Given the description of an element on the screen output the (x, y) to click on. 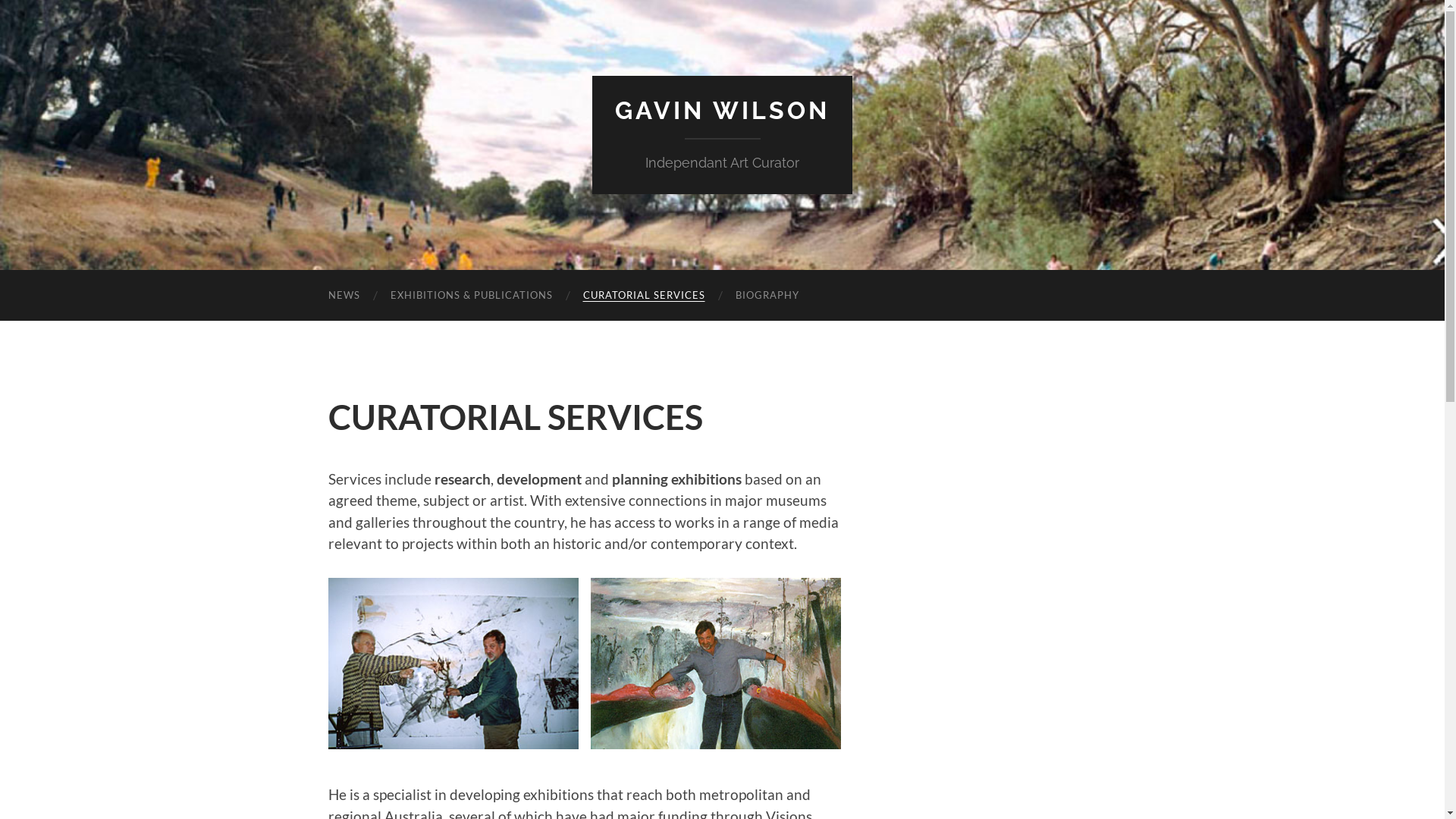
EXHIBITIONS & PUBLICATIONS Element type: text (470, 294)
NEWS Element type: text (343, 294)
BIOGRAPHY Element type: text (767, 294)
CURATORIAL SERVICES Element type: text (643, 294)
GAVIN WILSON Element type: text (722, 110)
